Given the description of an element on the screen output the (x, y) to click on. 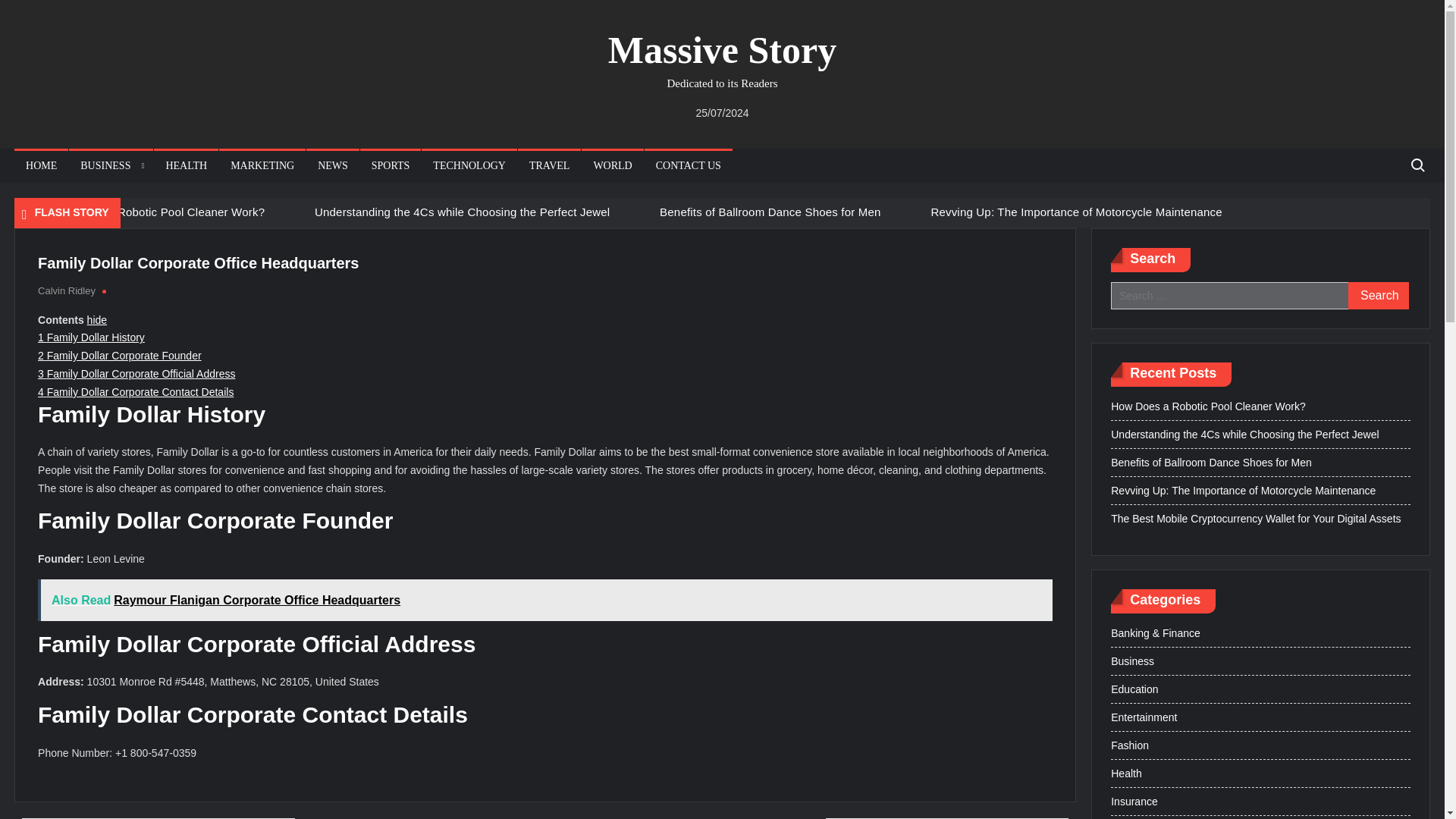
Benefits of Ballroom Dance Shoes for Men (640, 212)
TECHNOLOGY (469, 165)
CONTACT US (688, 165)
NEWS (332, 165)
Understanding the 4Cs while Choosing the Perfect Jewel (462, 210)
How Does a Robotic Pool Cleaner Work? (31, 212)
How Does a Robotic Pool Cleaner Work? (157, 210)
How Does a Robotic Pool Cleaner Work? (157, 210)
Search (1378, 295)
Benefits of Ballroom Dance Shoes for Men (769, 210)
Search (1378, 295)
SPORTS (390, 165)
BUSINESS (110, 165)
